Given the description of an element on the screen output the (x, y) to click on. 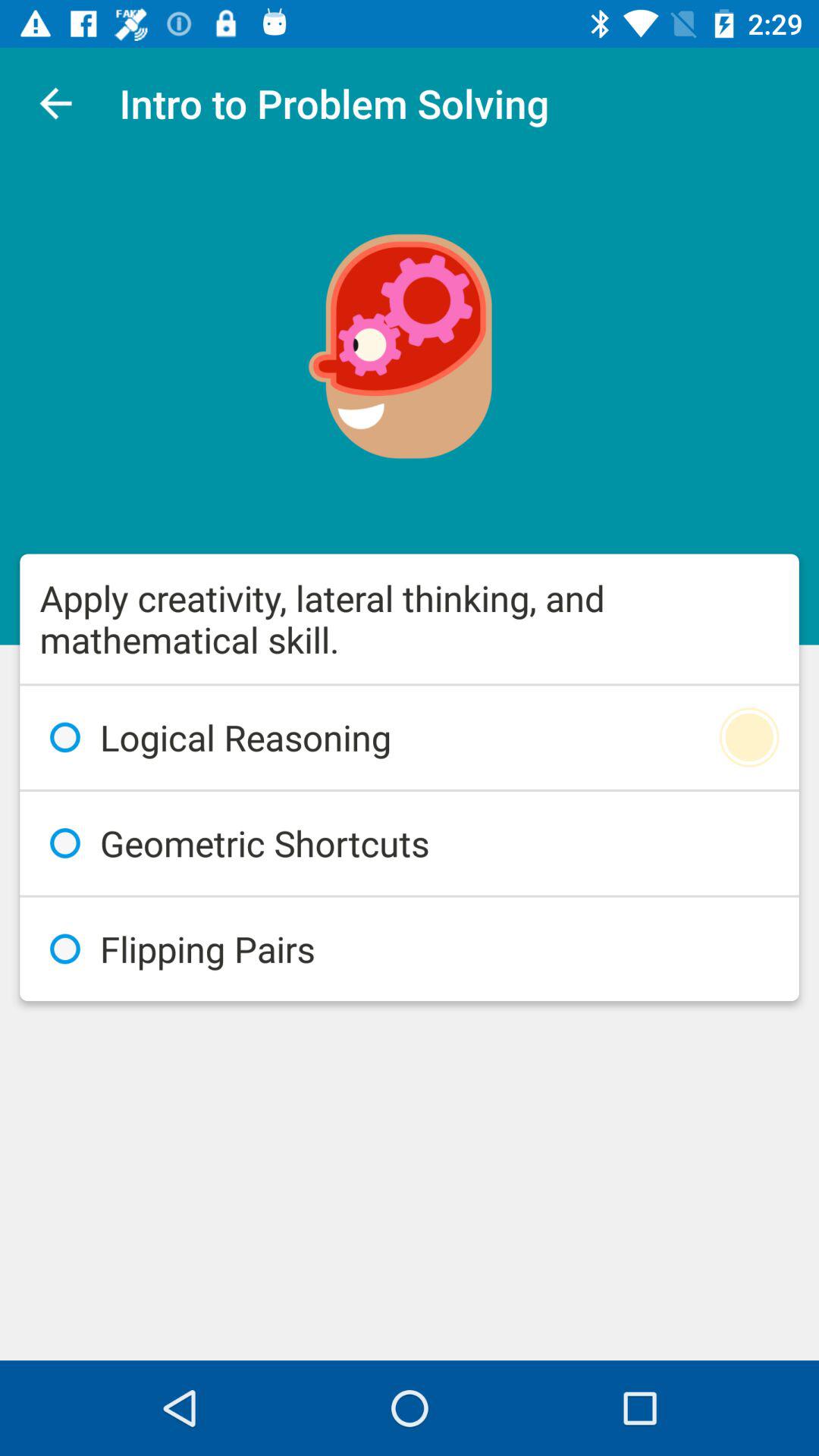
turn on icon to the left of the intro to problem icon (55, 103)
